Given the description of an element on the screen output the (x, y) to click on. 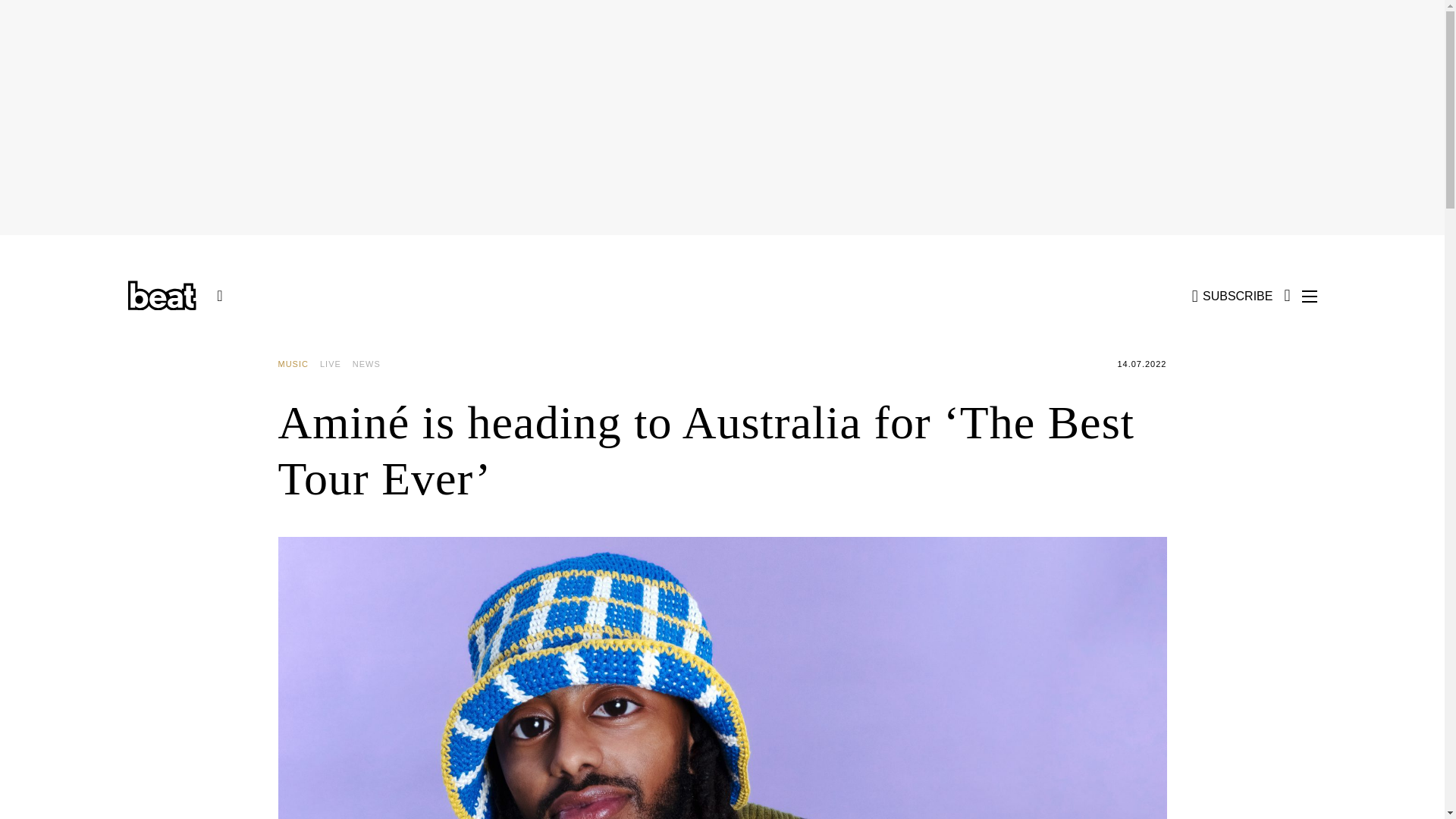
LIVE (336, 364)
3rd party ad content (202, 575)
NEWS (371, 364)
3rd party ad content (1241, 575)
MUSIC (298, 364)
